Given the description of an element on the screen output the (x, y) to click on. 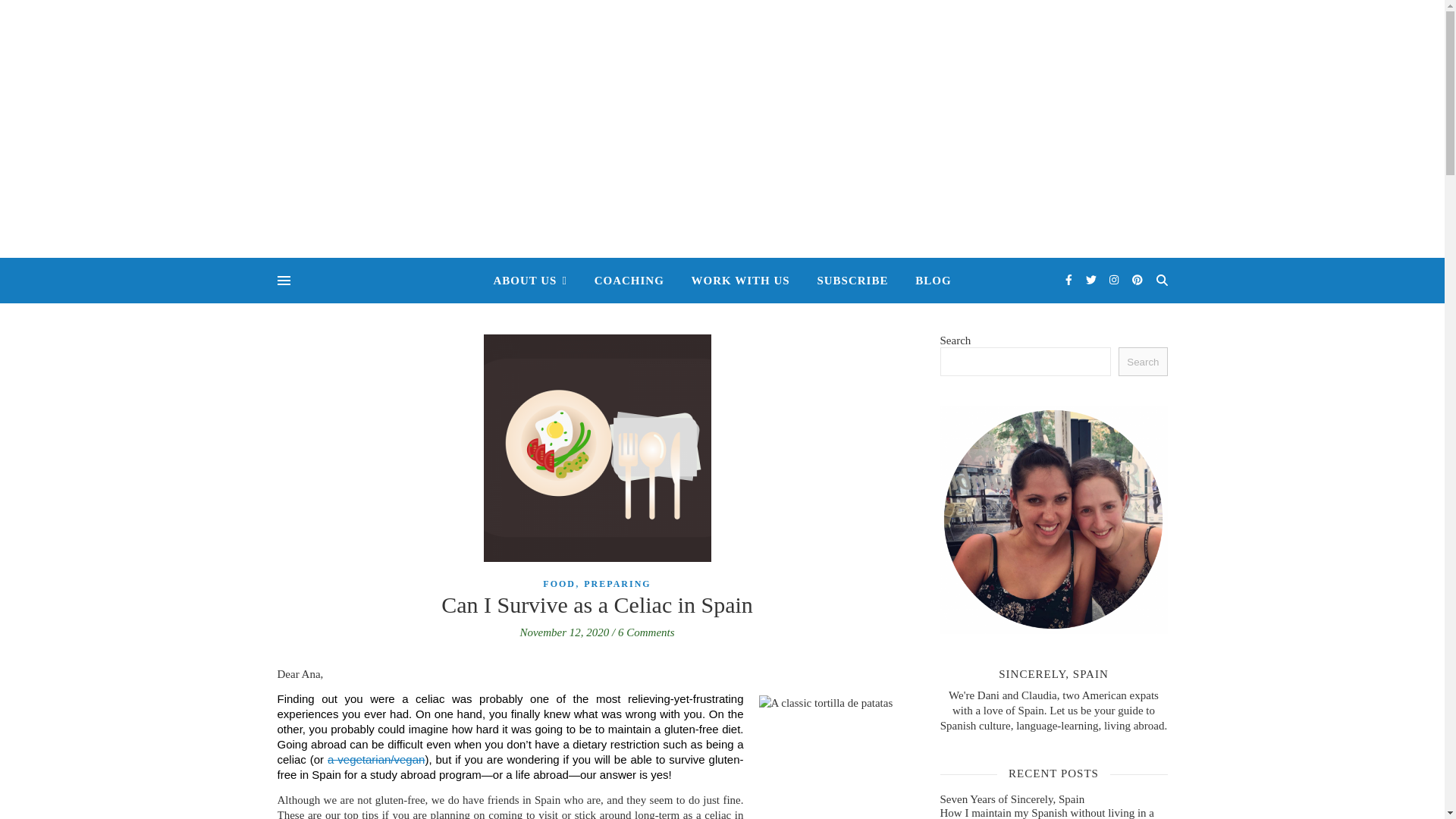
WORK WITH US (740, 280)
PREPARING (616, 583)
BLOG (926, 280)
ABOUT US (535, 280)
SUBSCRIBE (852, 280)
Sincerely, Spain (721, 117)
COACHING (629, 280)
FOOD (559, 583)
6 Comments (646, 632)
